Given the description of an element on the screen output the (x, y) to click on. 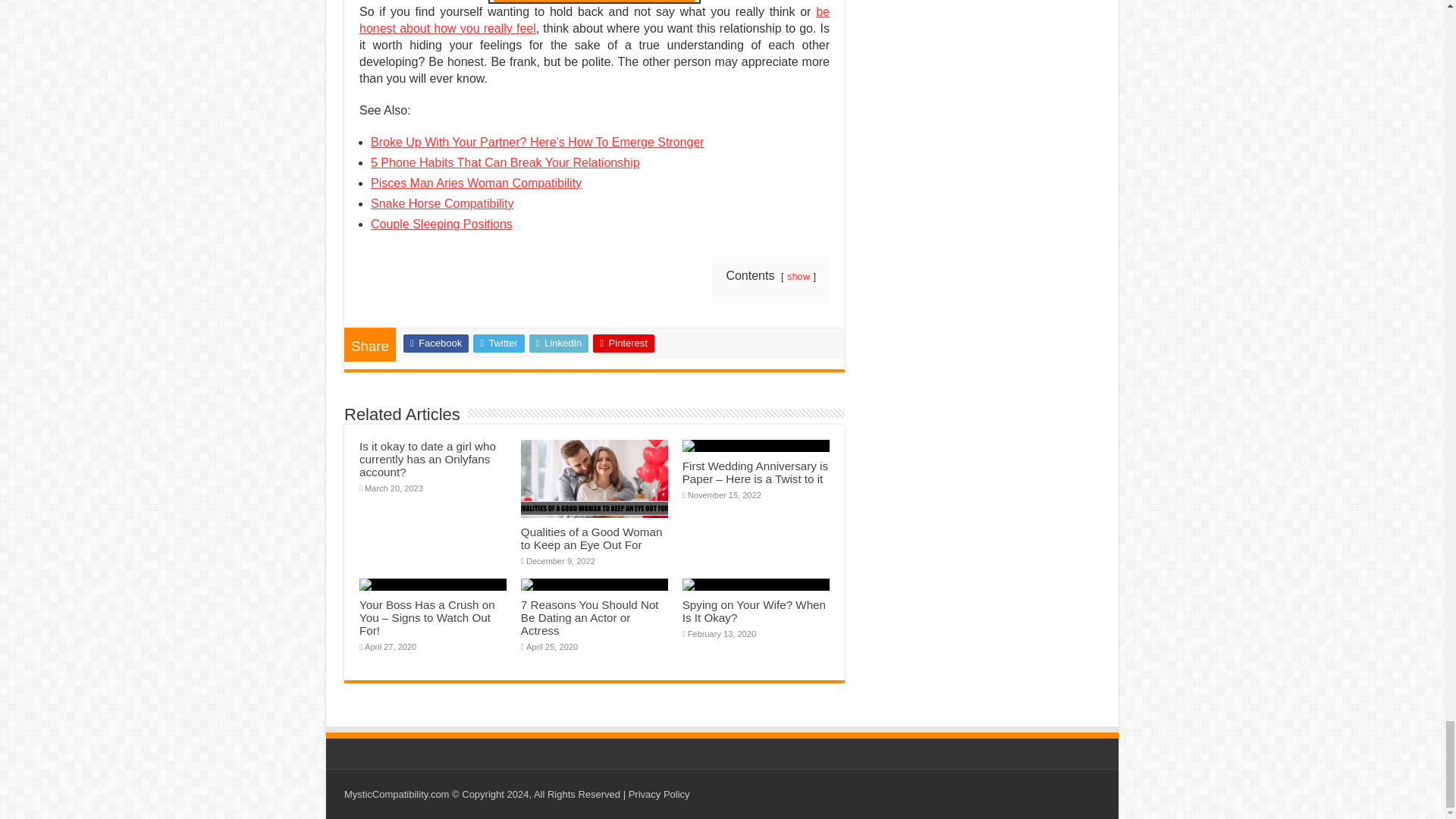
Free Marriage Compatibility Reading (593, 1)
